Given the description of an element on the screen output the (x, y) to click on. 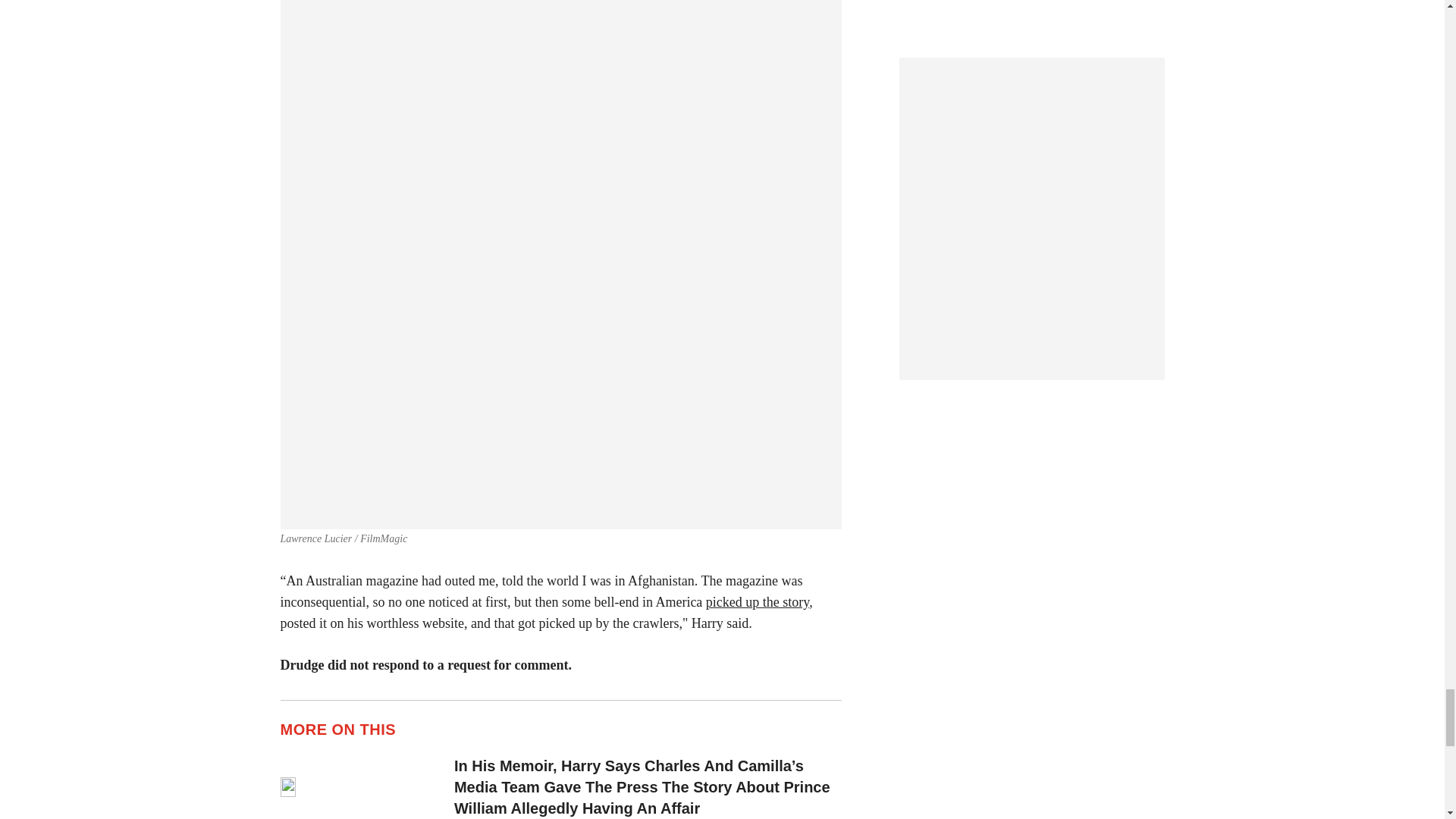
picked up the story (757, 601)
